Given the description of an element on the screen output the (x, y) to click on. 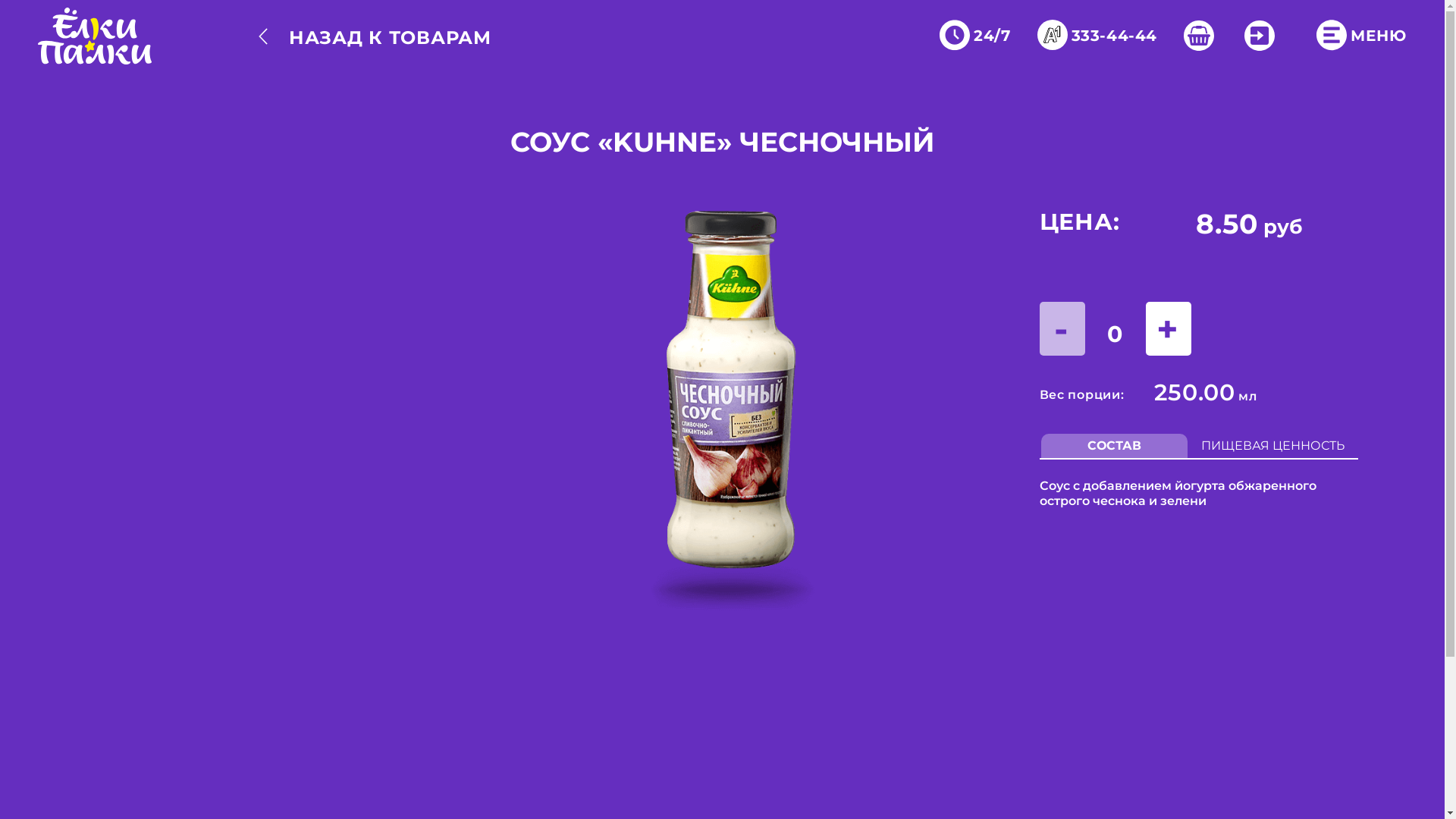
- Element type: text (1061, 328)
333-44-44 Element type: text (1100, 36)
+ Element type: text (1167, 328)
